Given the description of an element on the screen output the (x, y) to click on. 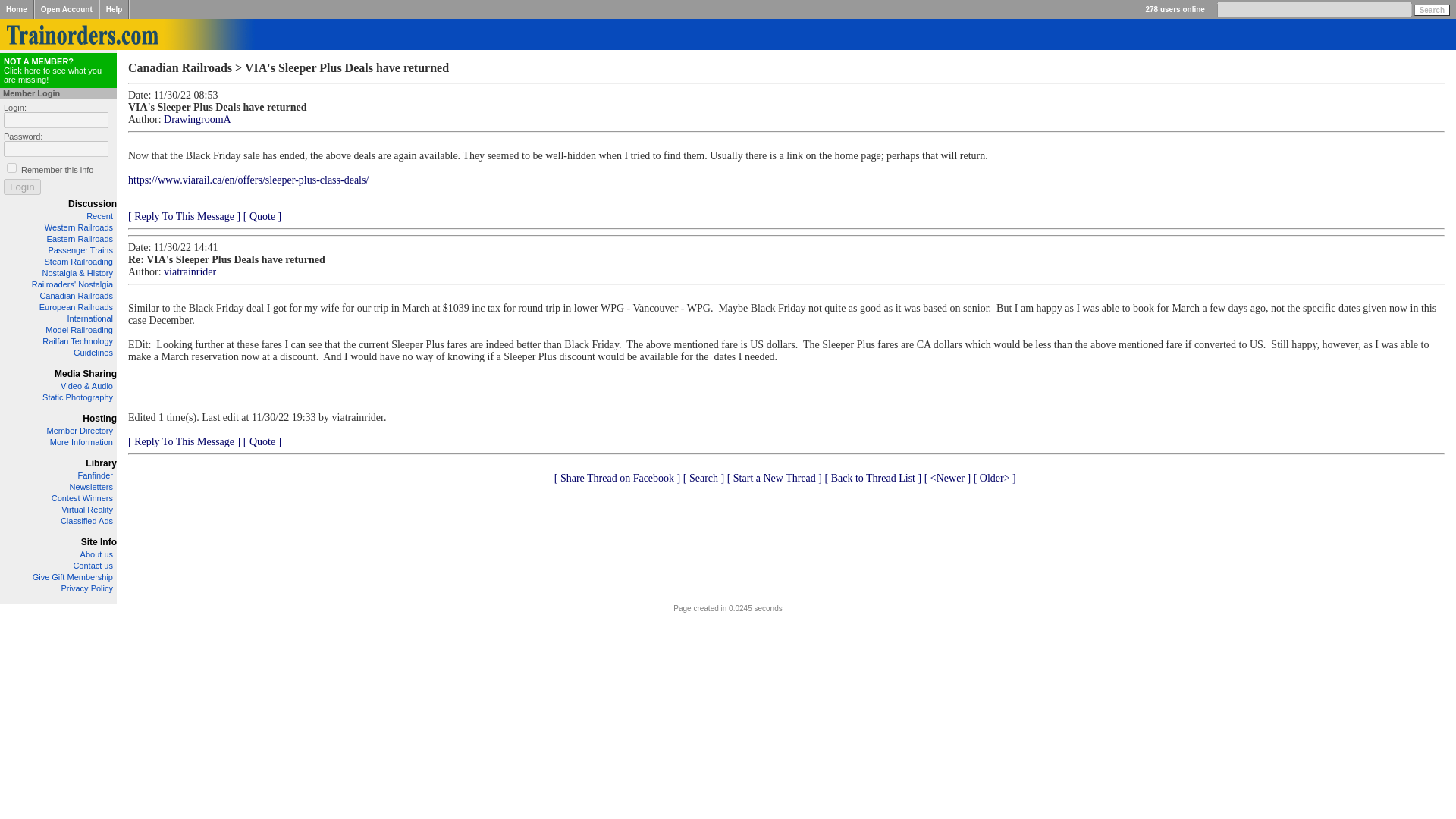
Passenger Trains (80, 249)
Discussion (92, 204)
Open Account (66, 8)
Login (22, 186)
Hosting (99, 418)
Library (100, 462)
Static Photography (77, 397)
Fanfinder (95, 474)
Newsletters (91, 486)
Home (16, 8)
Guidelines (93, 352)
Site Info (98, 542)
Western Railroads (79, 226)
Classified Ads (87, 520)
International (89, 317)
